Given the description of an element on the screen output the (x, y) to click on. 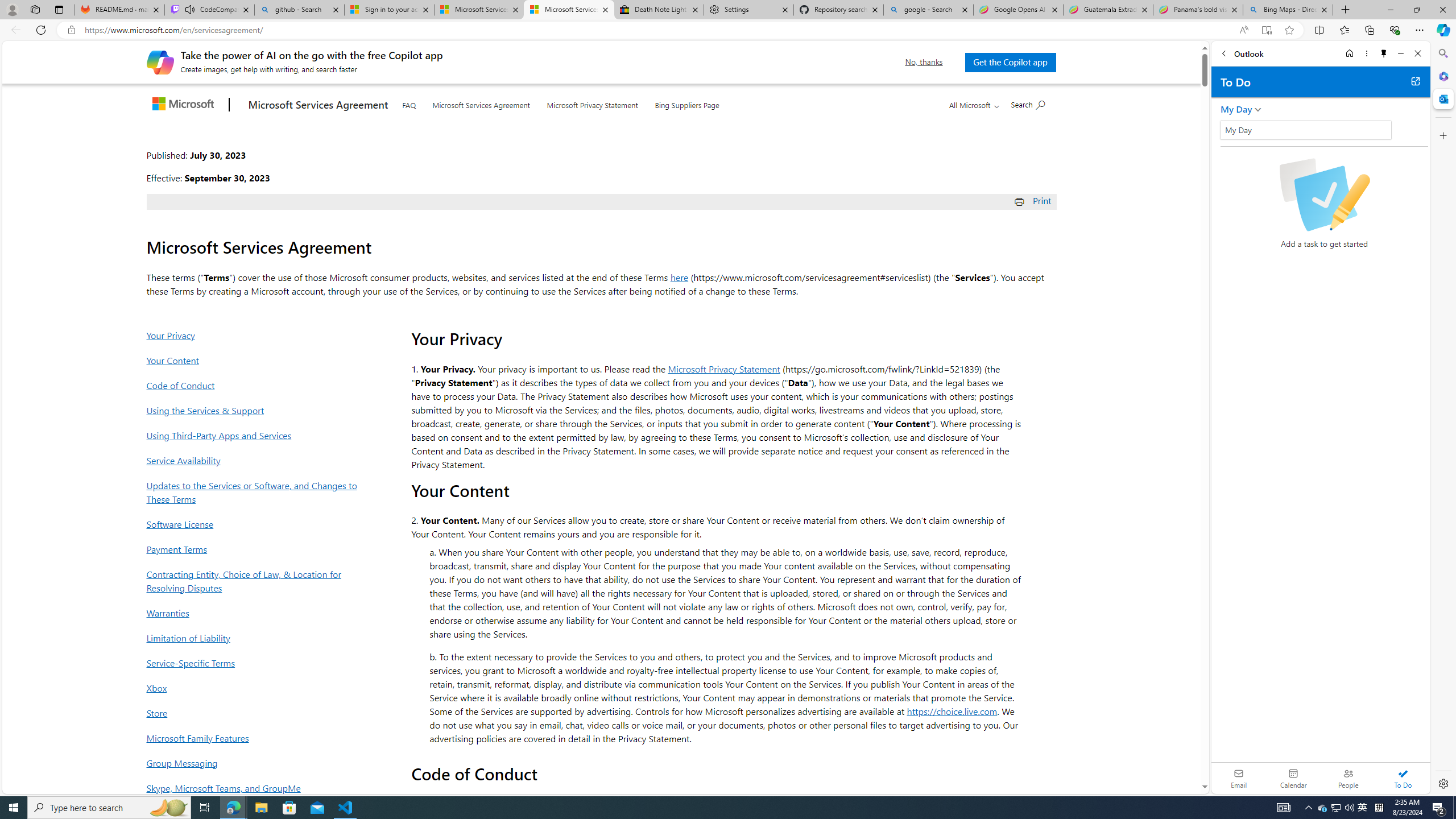
Microsoft Family Features (254, 737)
FAQ (408, 103)
Xbox (254, 687)
Store (254, 712)
No, thanks (923, 62)
Limitation of Liability (254, 637)
